Given the description of an element on the screen output the (x, y) to click on. 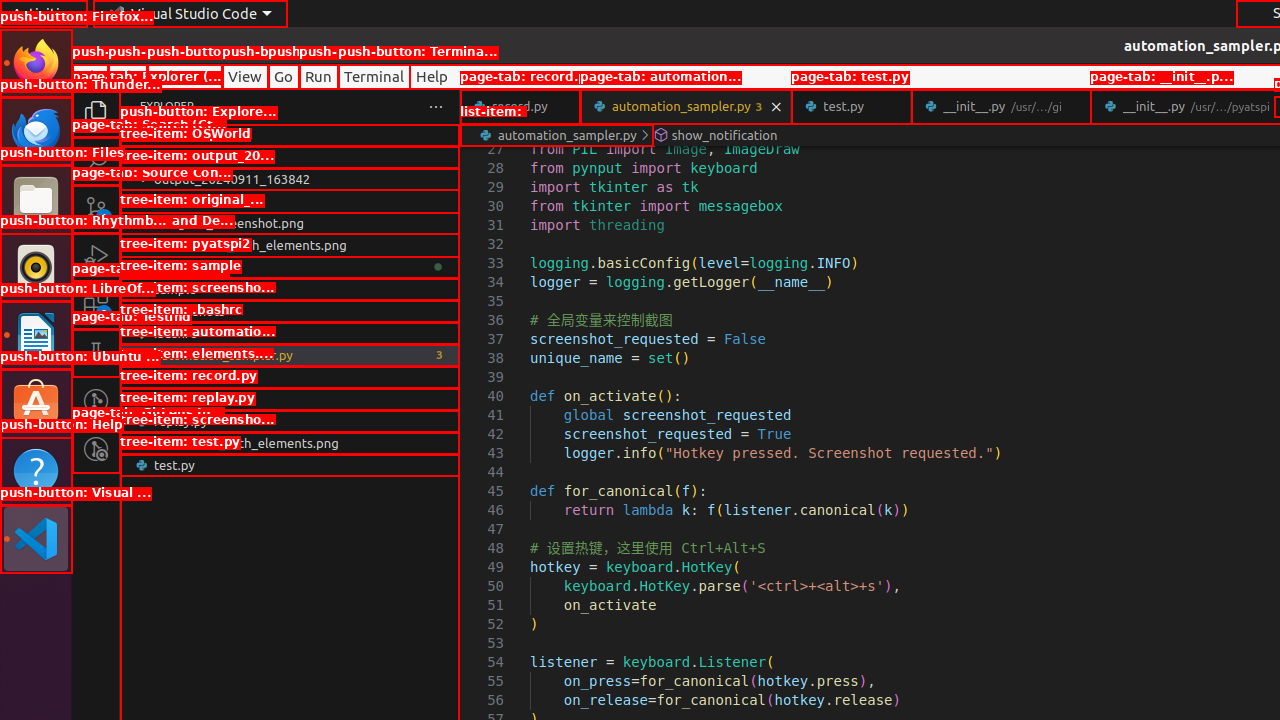
Explorer Section: osworld Element type: push-button (289, 135)
automation_sampler.py Element type: page-tab (686, 106)
Testing Element type: page-tab (96, 353)
View Element type: push-button (245, 76)
